Given the description of an element on the screen output the (x, y) to click on. 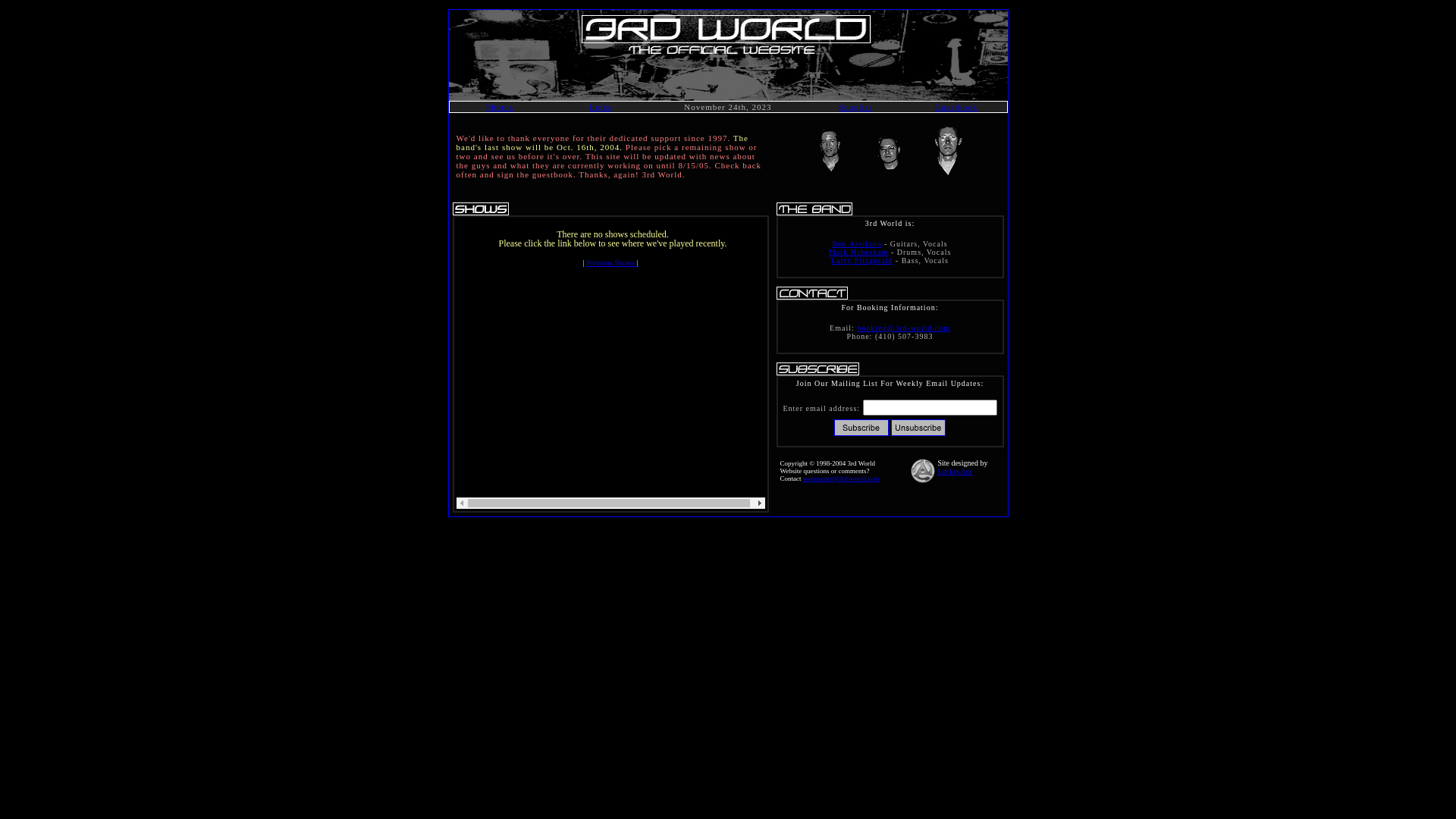
Photos Element type: text (499, 106)
LuckeyAce Element type: text (954, 471)
booking@3rd-world.com Element type: text (903, 327)
Guestbook Element type: text (956, 106)
webmaster@3rd-world.com Element type: text (841, 478)
Mark Haberkam Element type: text (858, 251)
Links Element type: text (600, 106)
Ben Arellano Element type: text (856, 243)
Previous Shows Element type: text (611, 262)
Larry Fitzgerald Element type: text (861, 260)
Songlist Element type: text (855, 106)
